Given the description of an element on the screen output the (x, y) to click on. 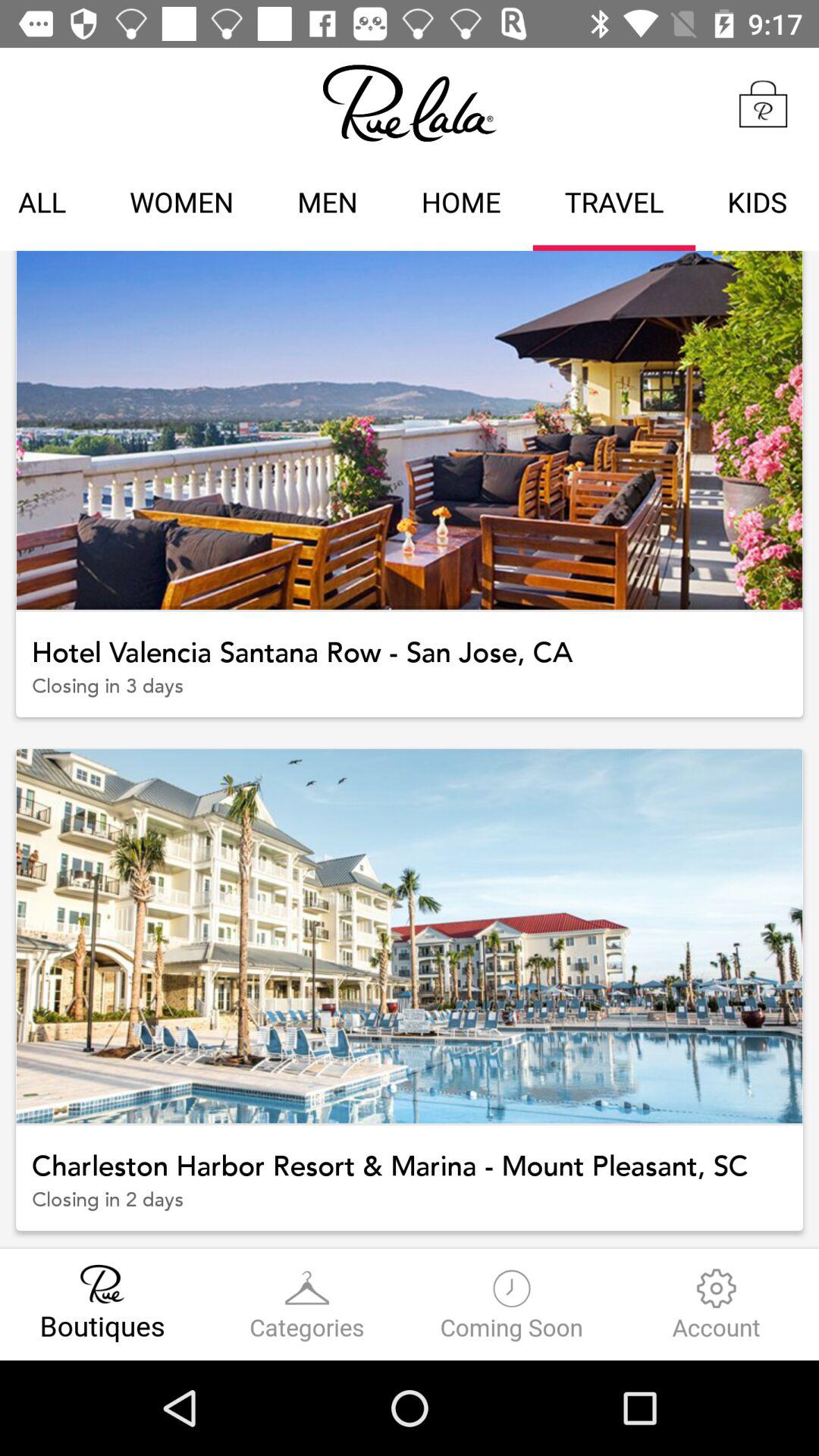
turn off hotel valencia santana item (409, 642)
